Given the description of an element on the screen output the (x, y) to click on. 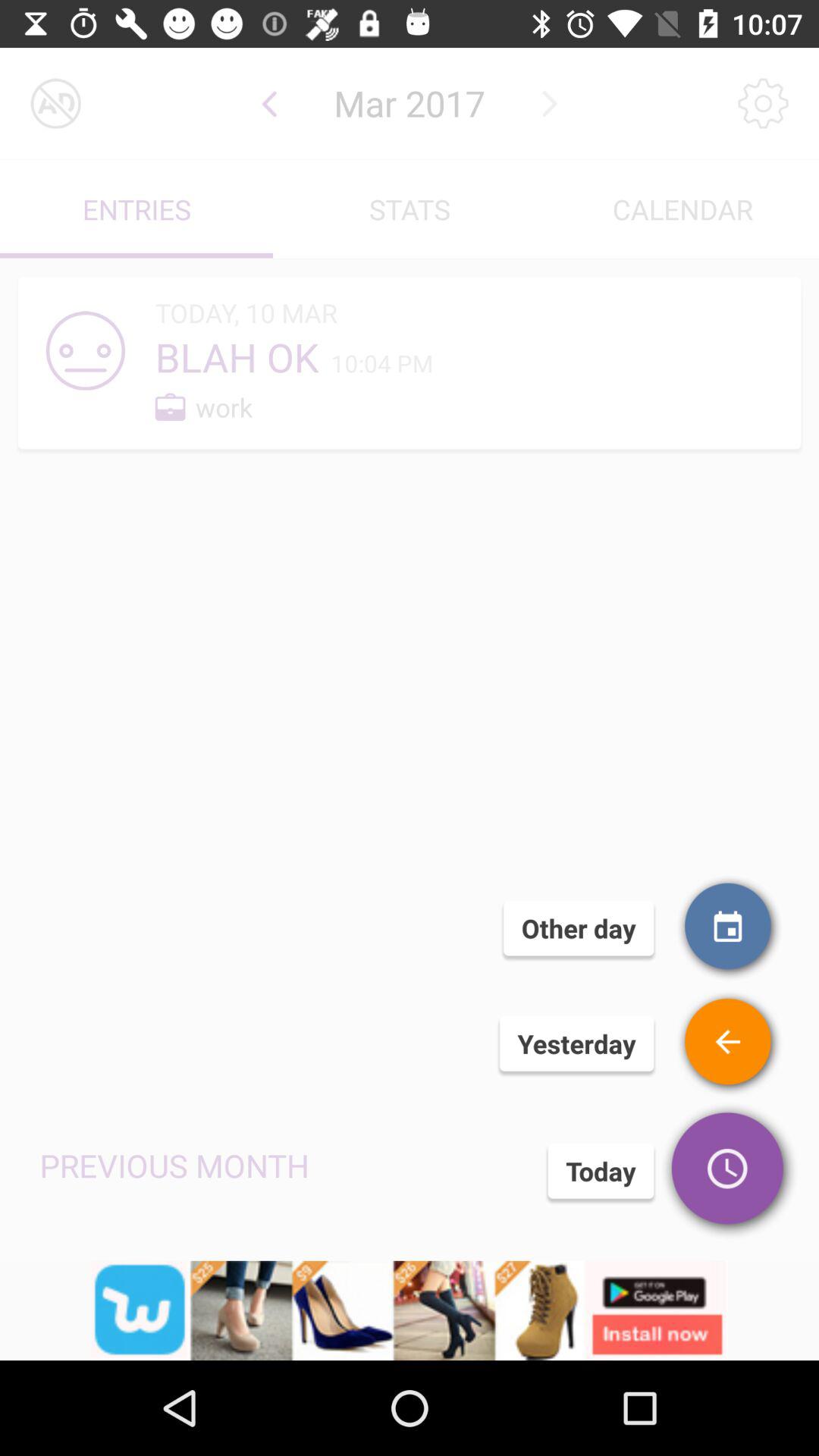
option right to stats (682, 209)
icon right to today text (729, 1171)
choose the text left side of today (174, 1165)
click the icon which is left side of mar 2017 (269, 103)
